Given the description of an element on the screen output the (x, y) to click on. 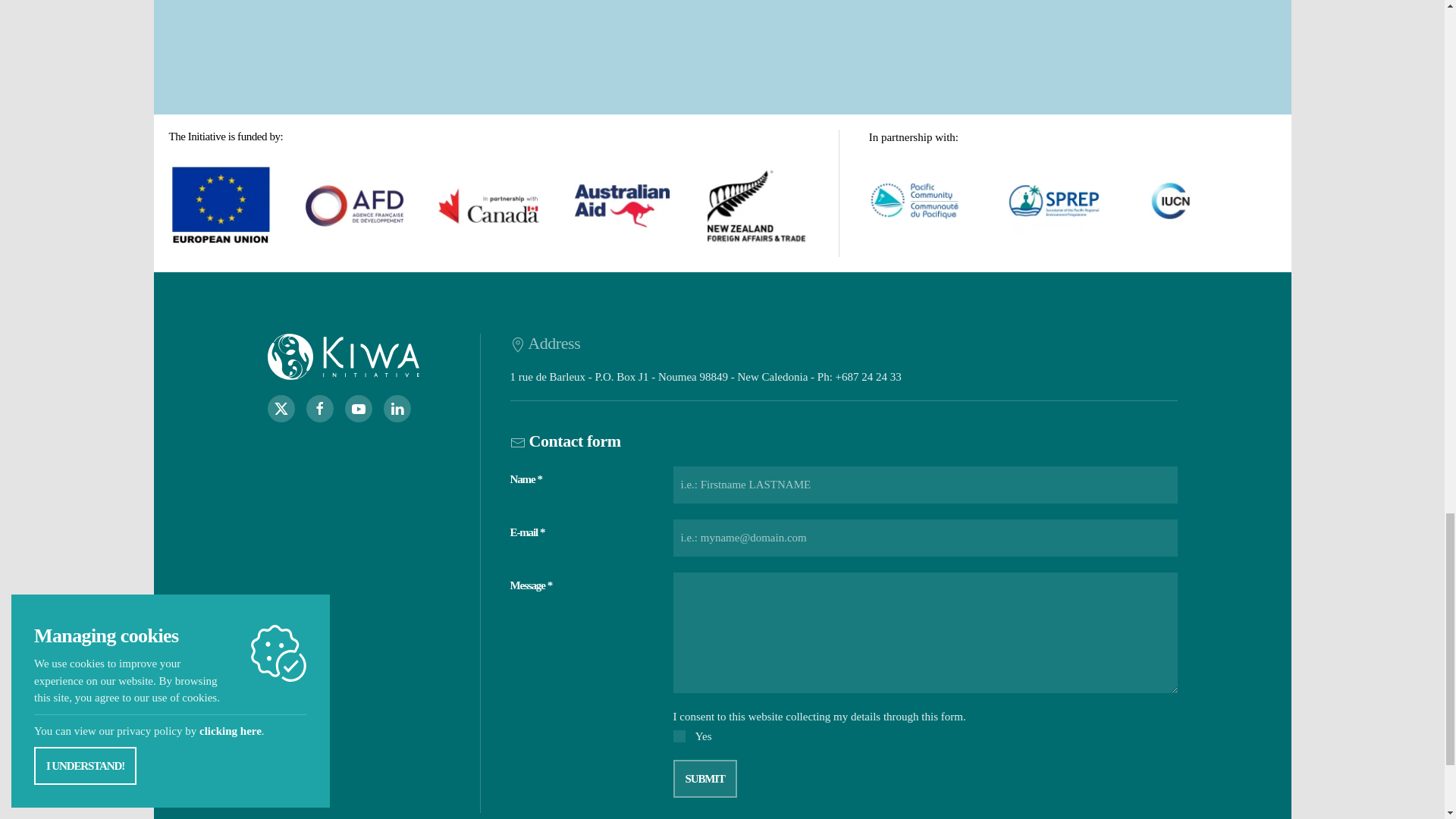
Yes (678, 736)
